Given the description of an element on the screen output the (x, y) to click on. 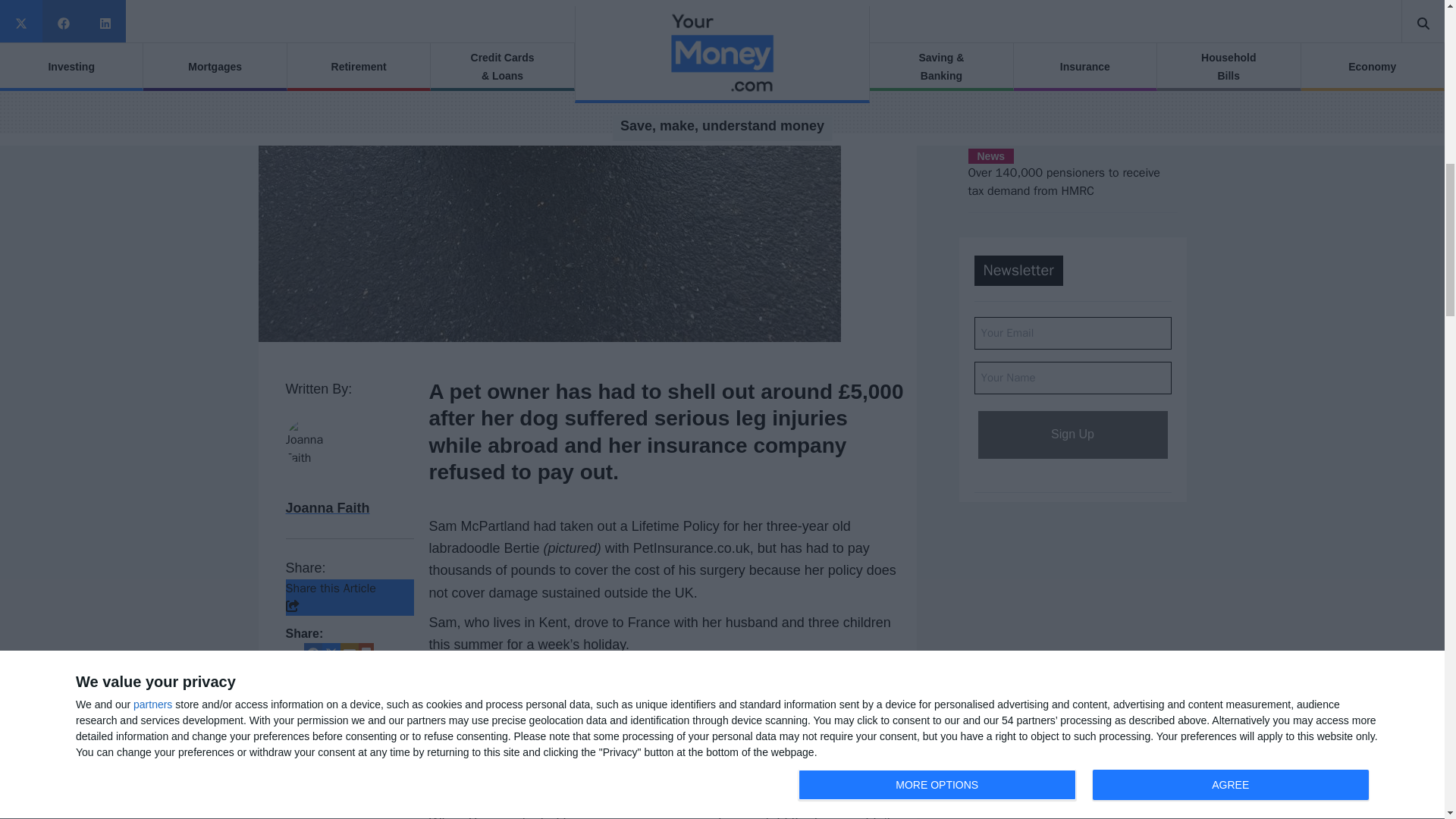
Joanna Faith (327, 507)
Sign Up (1072, 434)
